Given the description of an element on the screen output the (x, y) to click on. 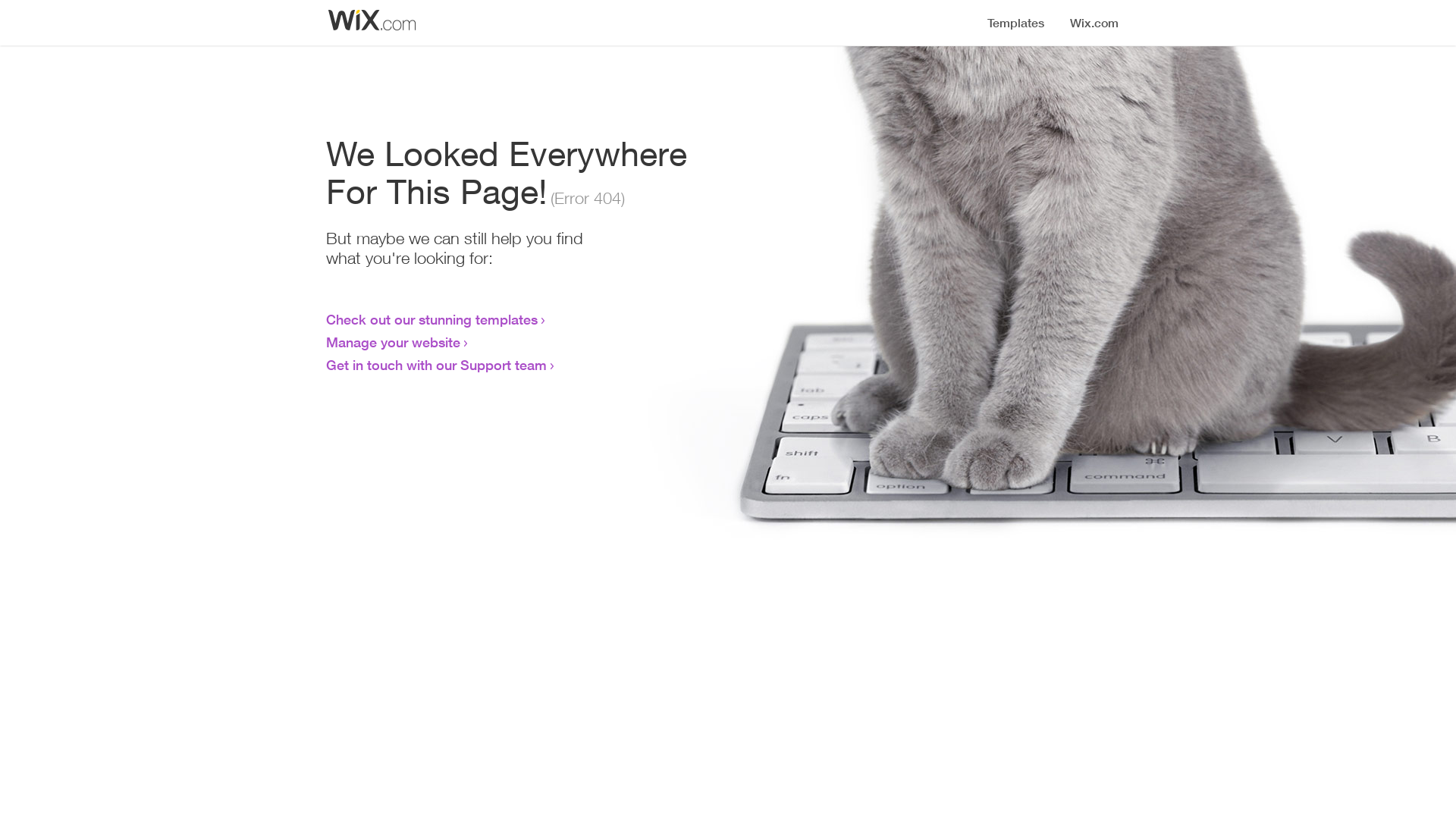
Check out our stunning templates Element type: text (431, 318)
Manage your website Element type: text (393, 341)
Get in touch with our Support team Element type: text (436, 364)
